Given the description of an element on the screen output the (x, y) to click on. 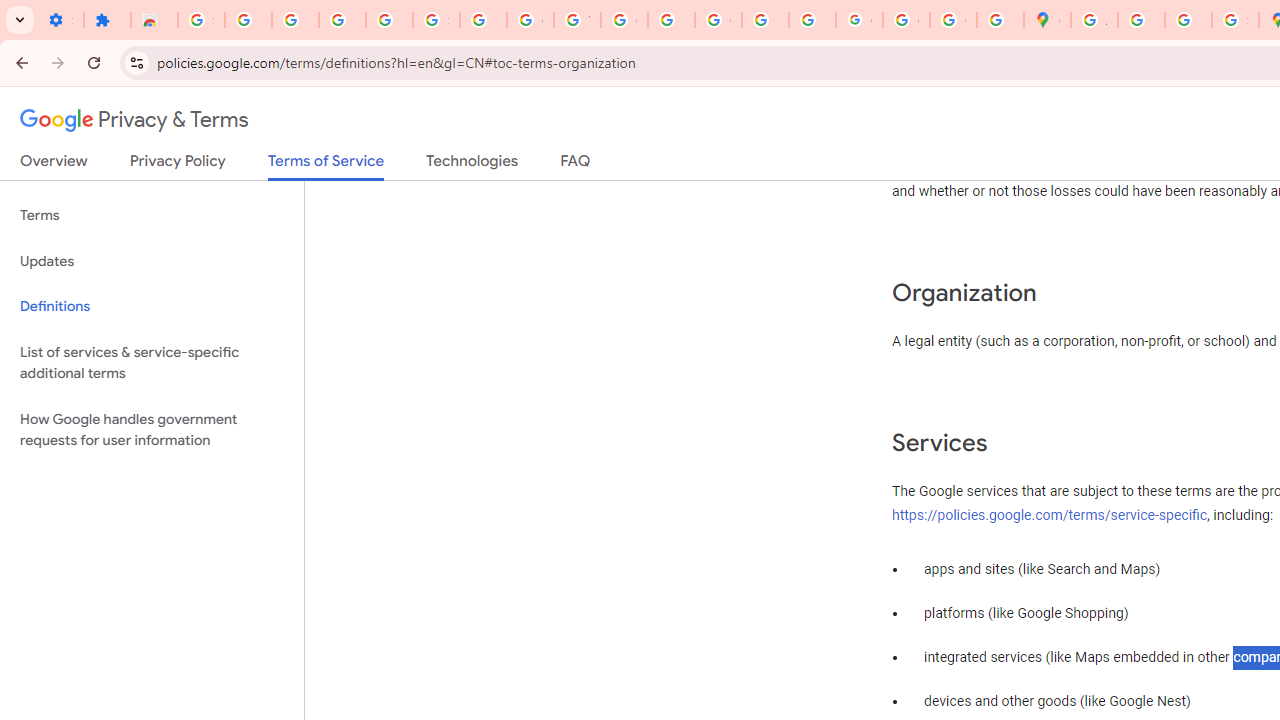
Safety in Our Products - Google Safety Center (1235, 20)
Extensions (107, 20)
Sign in - Google Accounts (201, 20)
Updates (152, 261)
Learn how to find your photos - Google Photos Help (342, 20)
YouTube (577, 20)
Reviews: Helix Fruit Jump Arcade Game (153, 20)
https://scholar.google.com/ (671, 20)
https://policies.google.com/terms/service-specific (1050, 515)
